Given the description of an element on the screen output the (x, y) to click on. 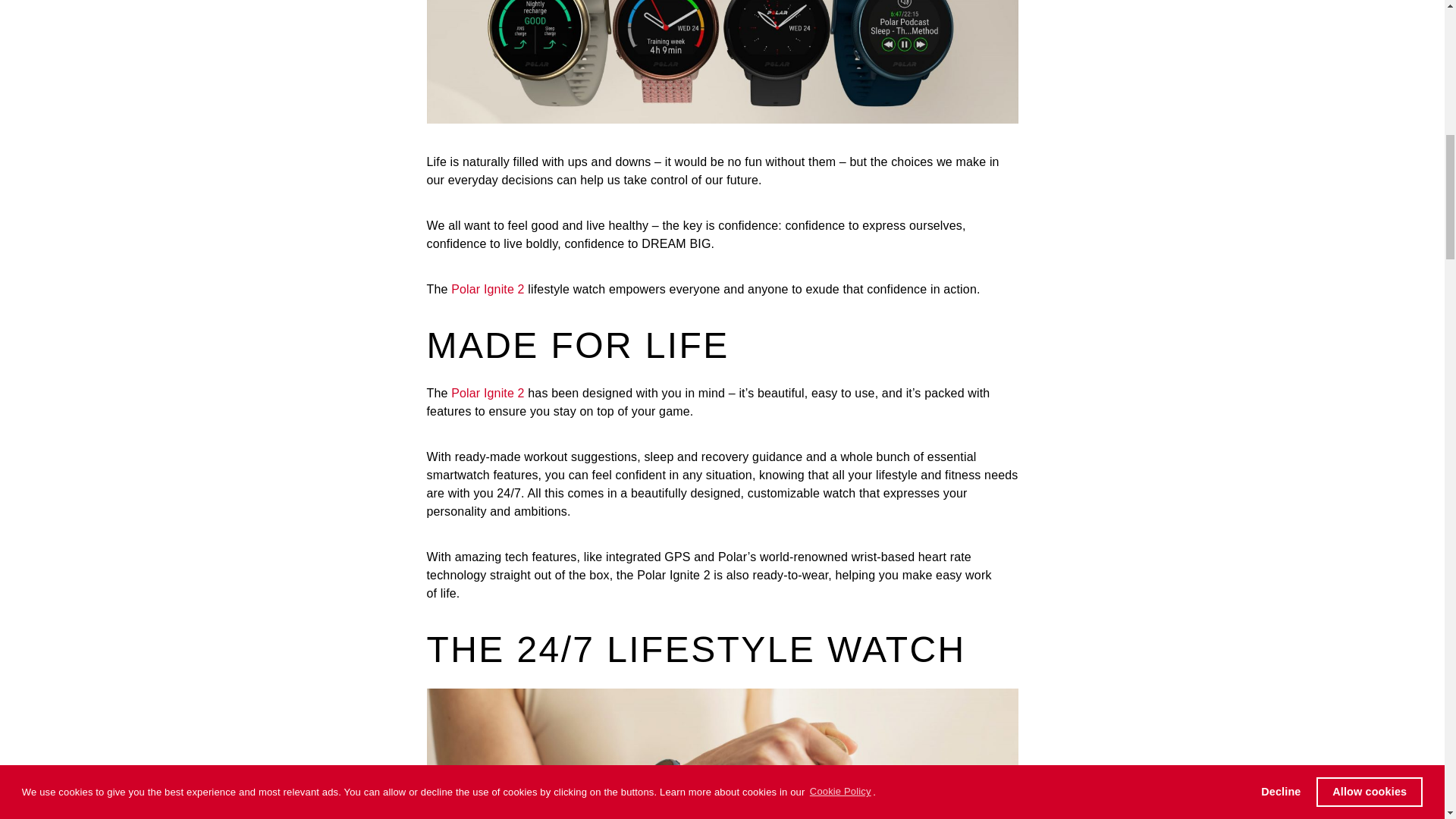
Polar Ignite 2 (487, 288)
Polar Ig (472, 392)
ite 2 (512, 392)
n (497, 392)
